Given the description of an element on the screen output the (x, y) to click on. 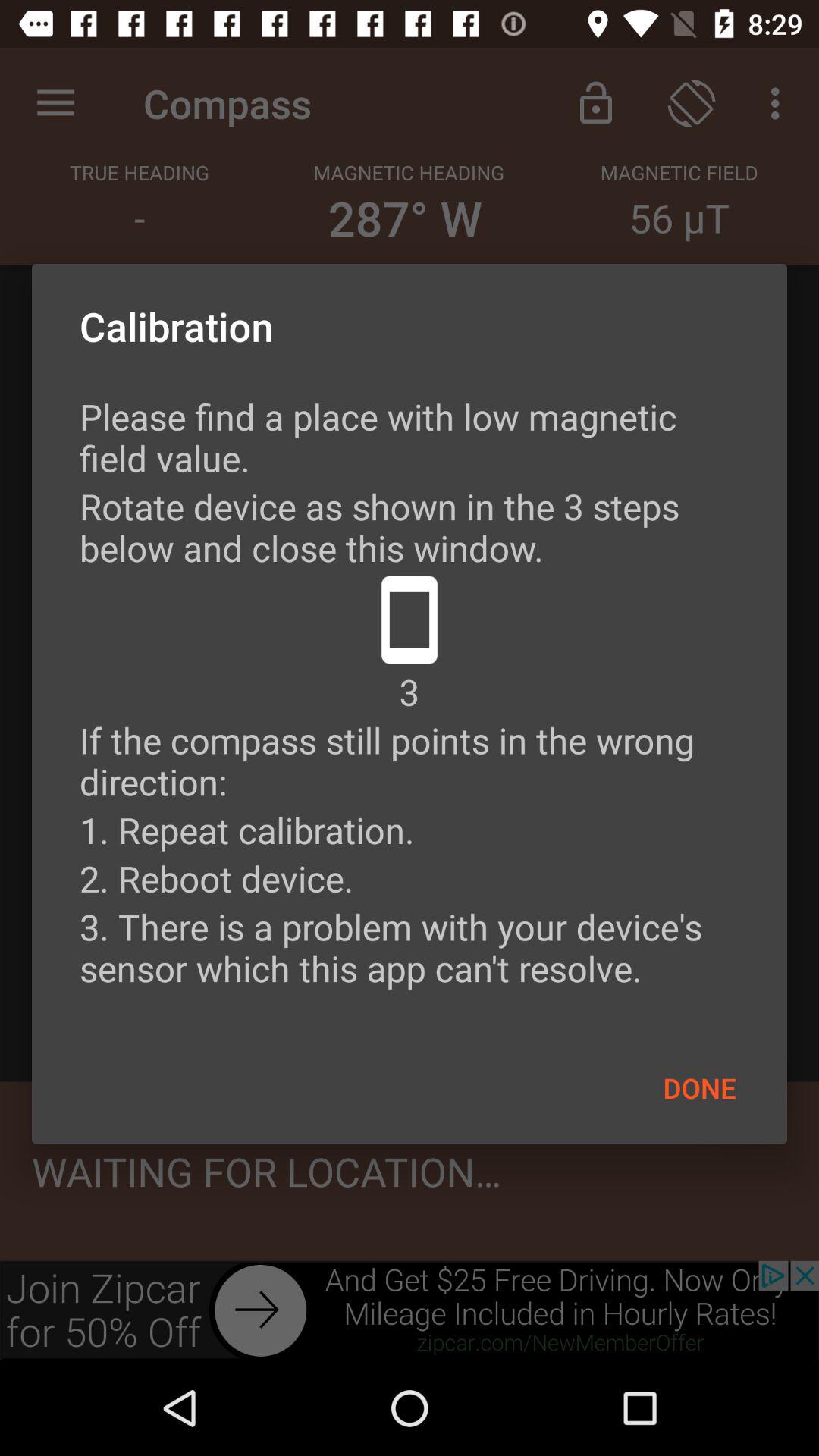
tap the done (699, 1087)
